Given the description of an element on the screen output the (x, y) to click on. 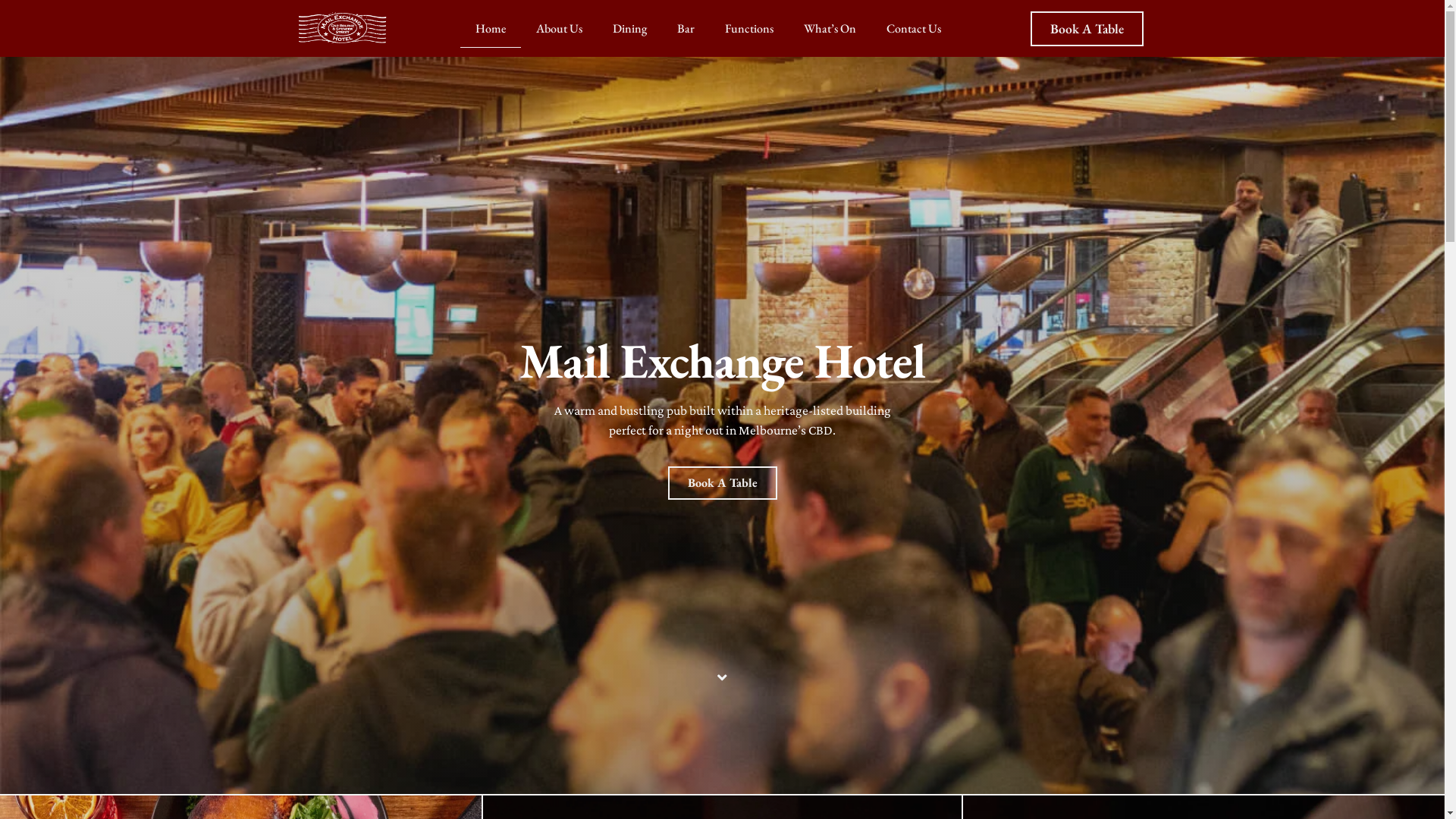
About Us Element type: text (558, 28)
Book A Table Element type: text (721, 482)
Book A Table Element type: text (1086, 28)
Functions Element type: text (748, 28)
Contact Us Element type: text (913, 28)
Bar Element type: text (685, 28)
Dining Element type: text (629, 28)
Home Element type: text (490, 28)
